Given the description of an element on the screen output the (x, y) to click on. 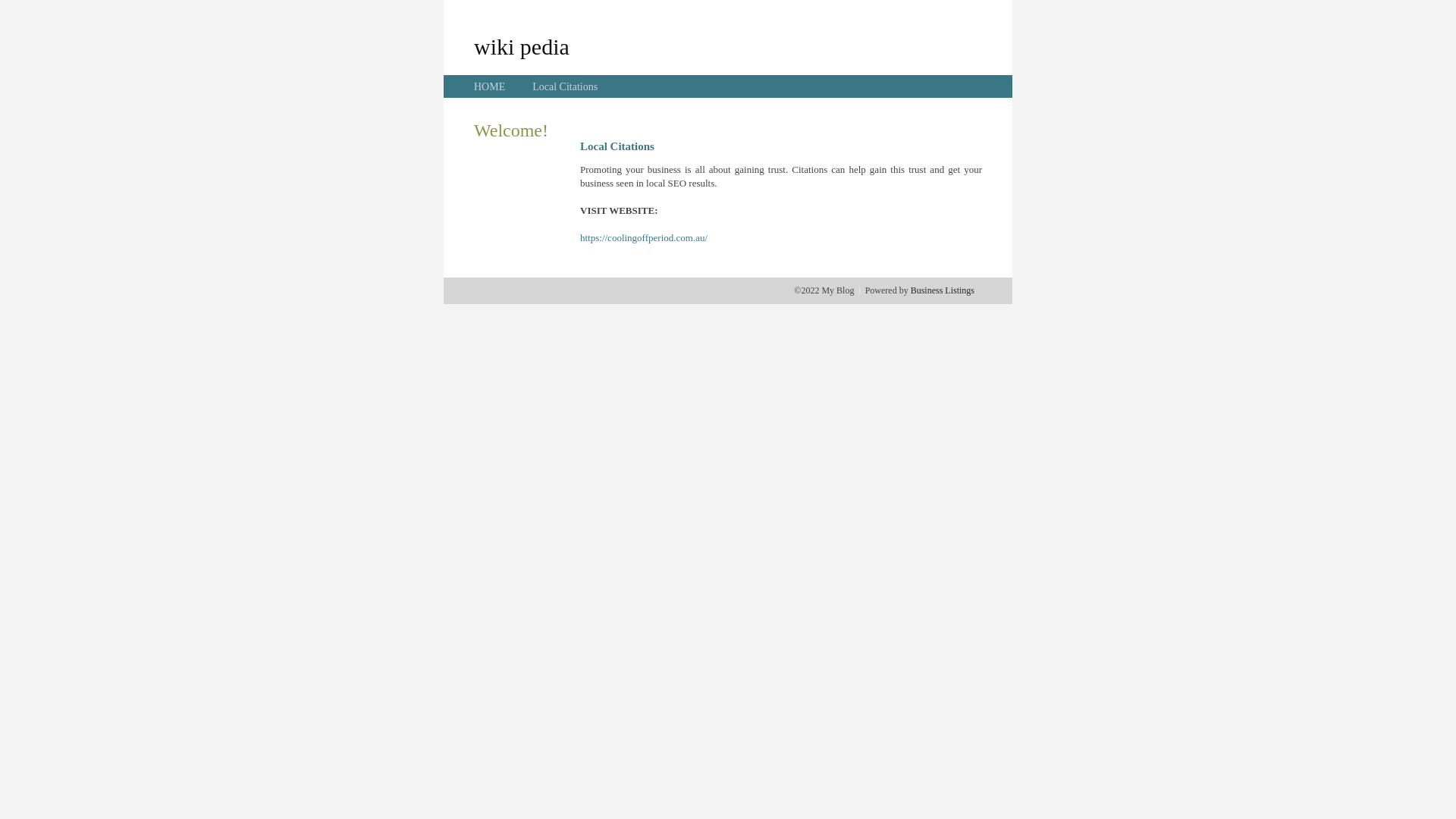
Business Listings Element type: text (942, 290)
HOME Element type: text (489, 86)
Local Citations Element type: text (564, 86)
wiki pedia Element type: text (521, 46)
https://coolingoffperiod.com.au/ Element type: text (643, 237)
